Given the description of an element on the screen output the (x, y) to click on. 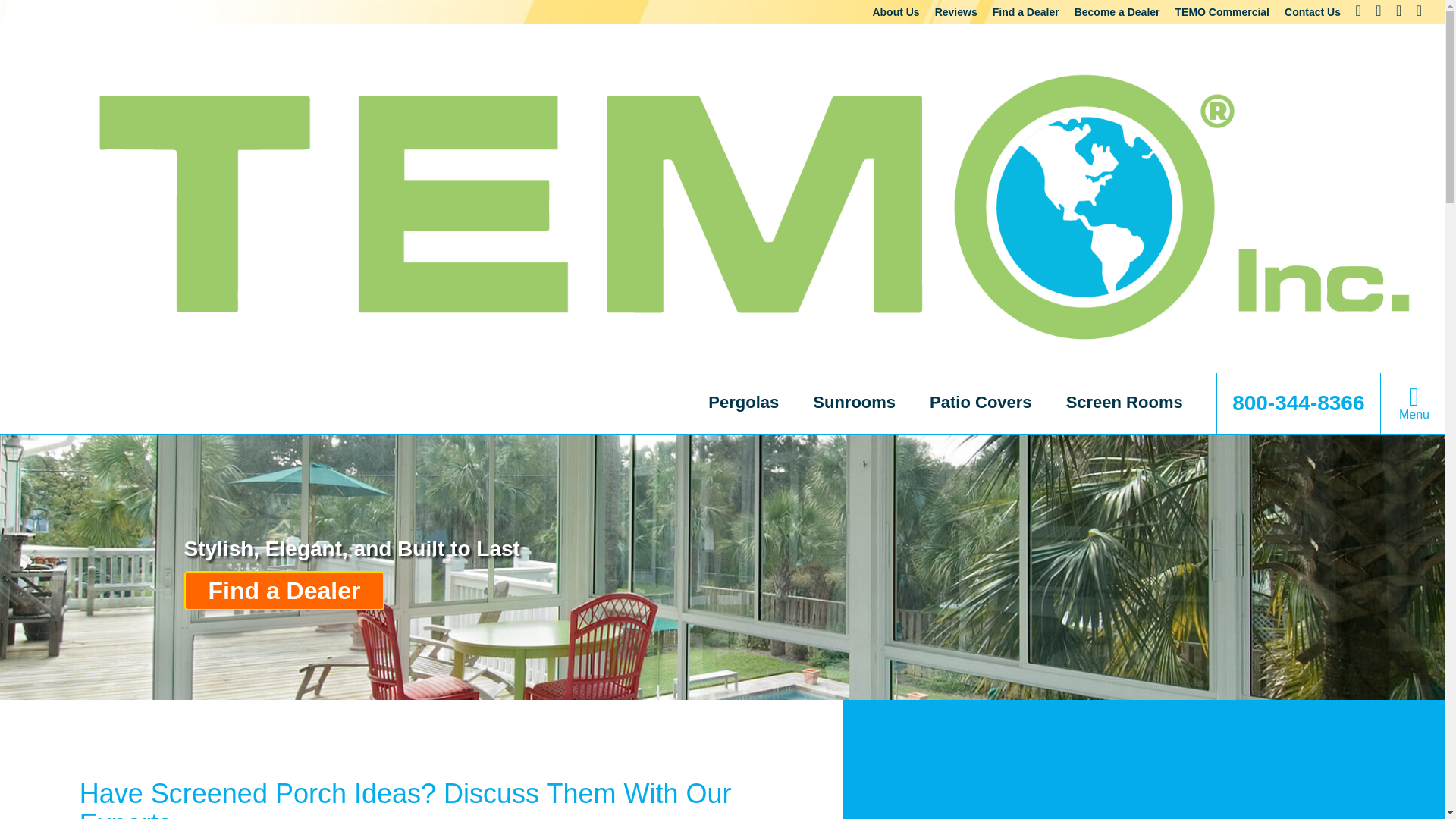
Contact Us (1312, 11)
Pergolas (742, 402)
TEMO Commercial (1221, 11)
Find a Dealer (1025, 11)
Patio Covers (981, 402)
Become a Dealer (1117, 11)
Sunrooms (853, 402)
About Us (895, 11)
Reviews (955, 11)
